Given the description of an element on the screen output the (x, y) to click on. 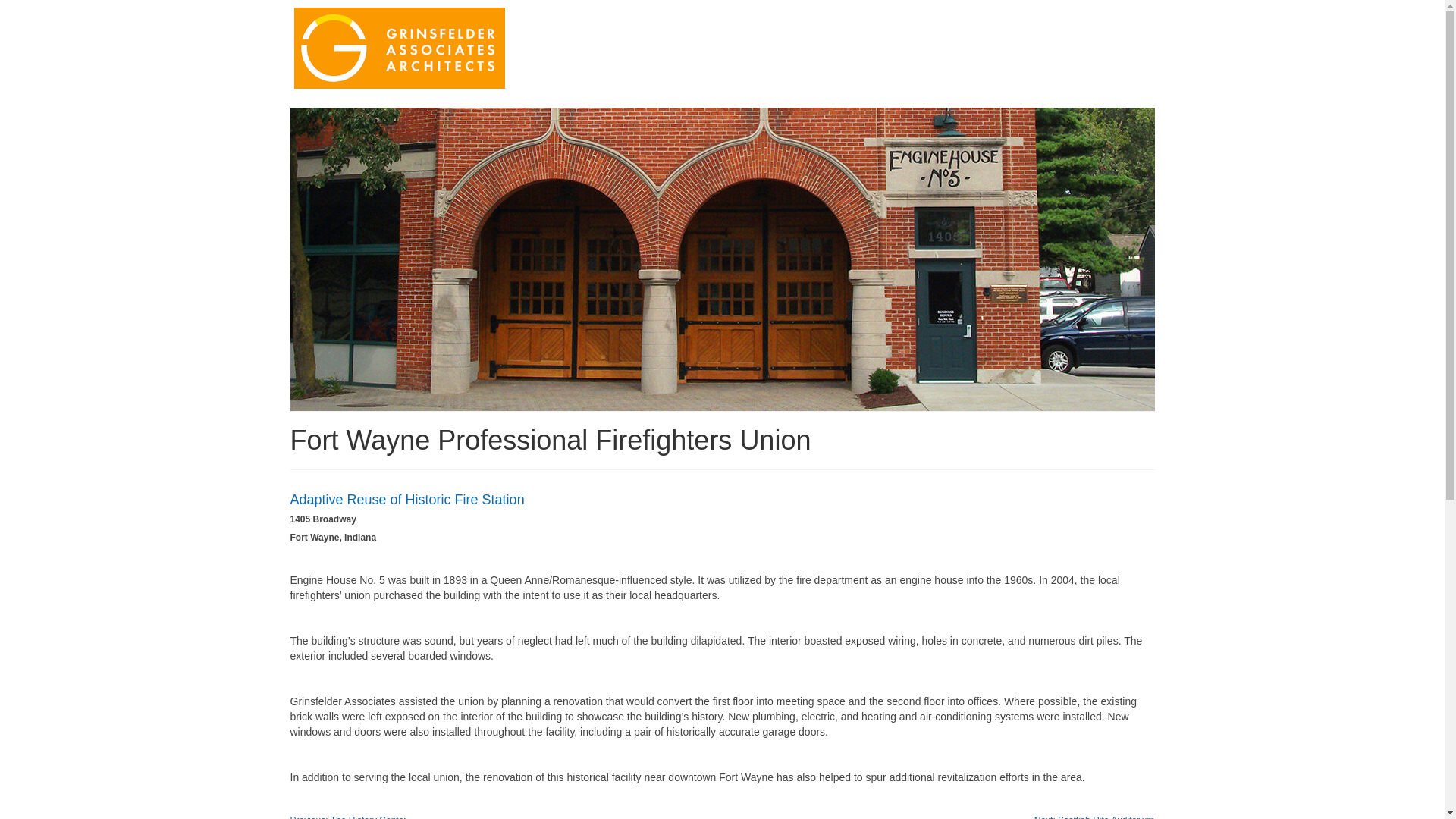
The History Center (347, 816)
Contact Us (627, 72)
News (1067, 44)
Next: Scottish Rite Auditorium (1093, 816)
Design Awards (986, 44)
Portfolio (785, 44)
Previous: The History Center (347, 816)
Company Profile (879, 44)
Scottish Rite Auditorium (1093, 816)
The Grinsfelder Advantage (666, 44)
